Given the description of an element on the screen output the (x, y) to click on. 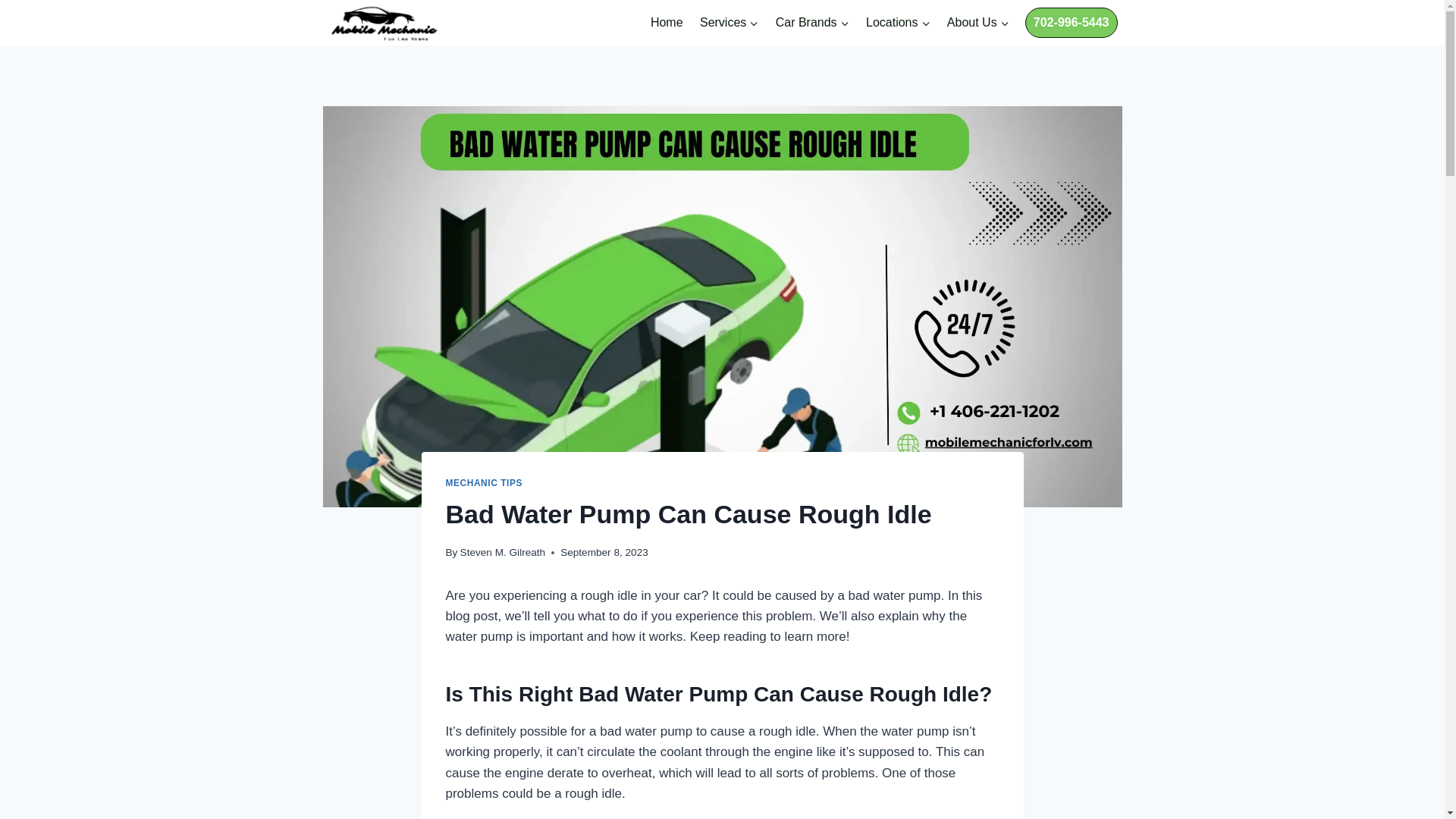
Services (729, 22)
Home (666, 22)
